Given the description of an element on the screen output the (x, y) to click on. 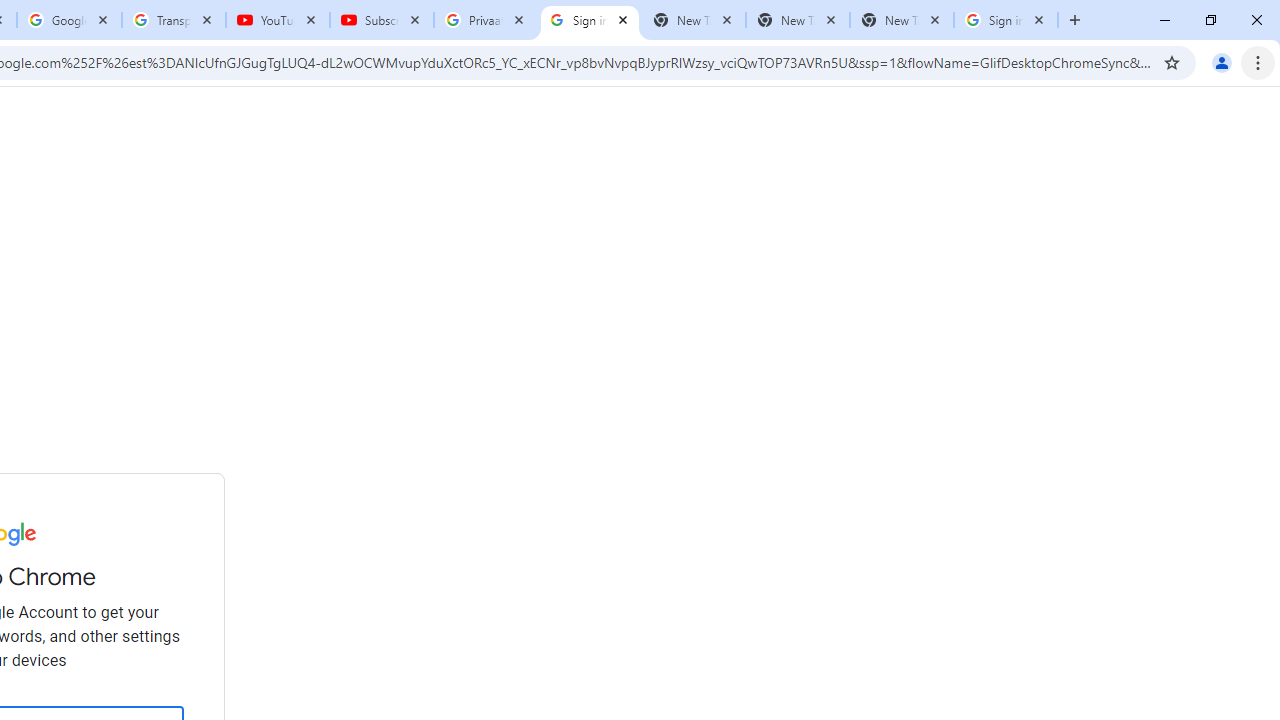
Sign in - Google Accounts (589, 20)
Subscriptions - YouTube (381, 20)
YouTube (278, 20)
Google Account (68, 20)
Sign in - Google Accounts (1005, 20)
New Tab (901, 20)
